Given the description of an element on the screen output the (x, y) to click on. 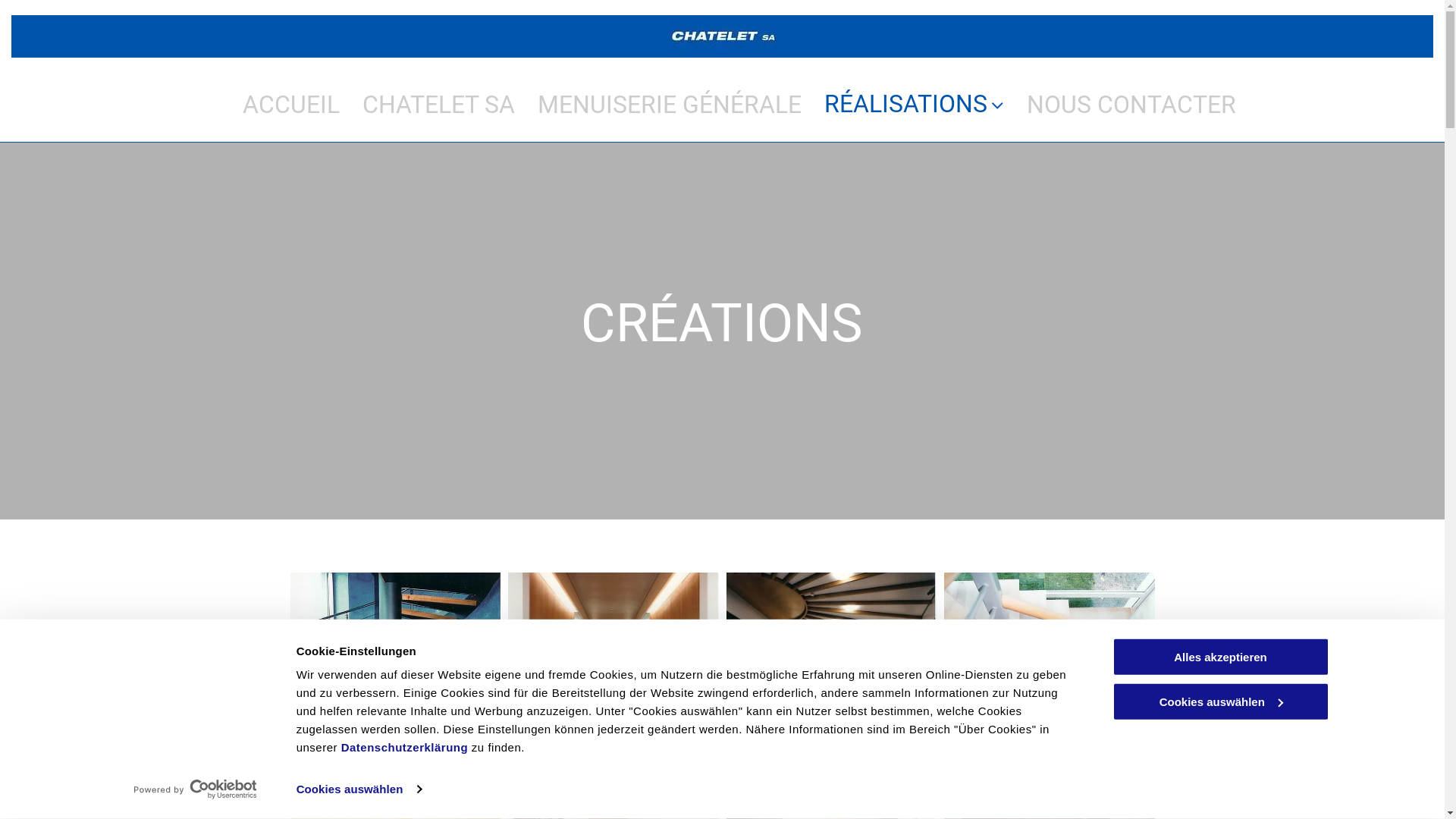
NOUS CONTACTER Element type: text (1131, 105)
Alles akzeptieren Element type: text (1219, 656)
ACCUEIL Element type: text (290, 105)
CHATELET SA Element type: text (438, 105)
